Given the description of an element on the screen output the (x, y) to click on. 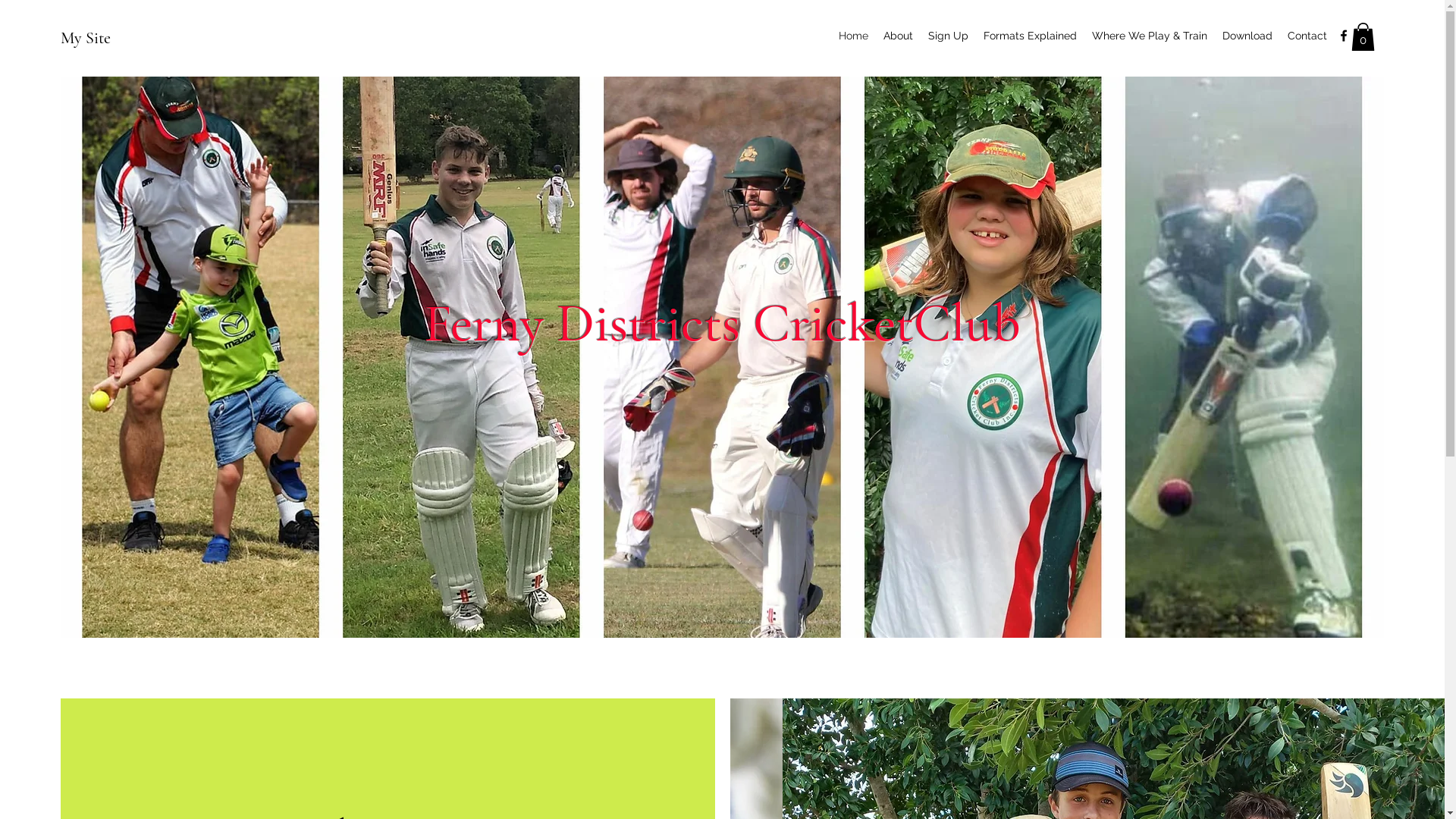
Where We Play & Train Element type: text (1149, 35)
Home Element type: text (853, 35)
About Element type: text (897, 35)
Contact Element type: text (1307, 35)
Formats Explained Element type: text (1029, 35)
Download Element type: text (1247, 35)
0 Element type: text (1362, 36)
Sign Up Element type: text (947, 35)
